Given the description of an element on the screen output the (x, y) to click on. 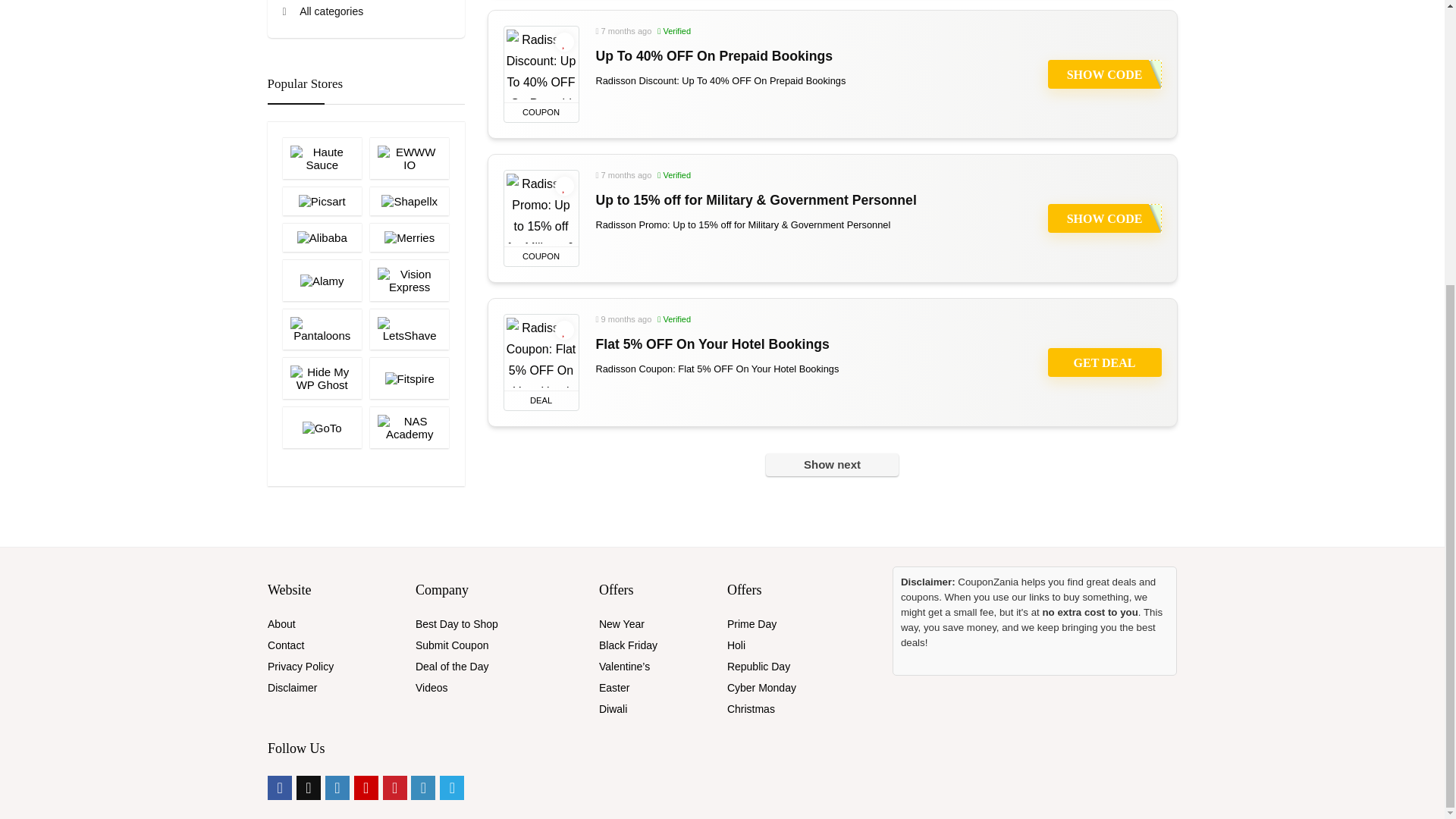
View all post filed under Vision Express (408, 280)
GET DEAL (1104, 362)
View all post filed under Alamy (321, 280)
All categories (322, 11)
View all post filed under LetsShave (408, 328)
View all post filed under Pantaloons (321, 328)
View all post filed under EWWW IO (408, 158)
View all post filed under Haute Sauce (321, 158)
View all post filed under Merries (408, 236)
View all post filed under Picsart (321, 200)
View all post filed under Shapellx (408, 200)
View all post filed under Alibaba (321, 236)
